Given the description of an element on the screen output the (x, y) to click on. 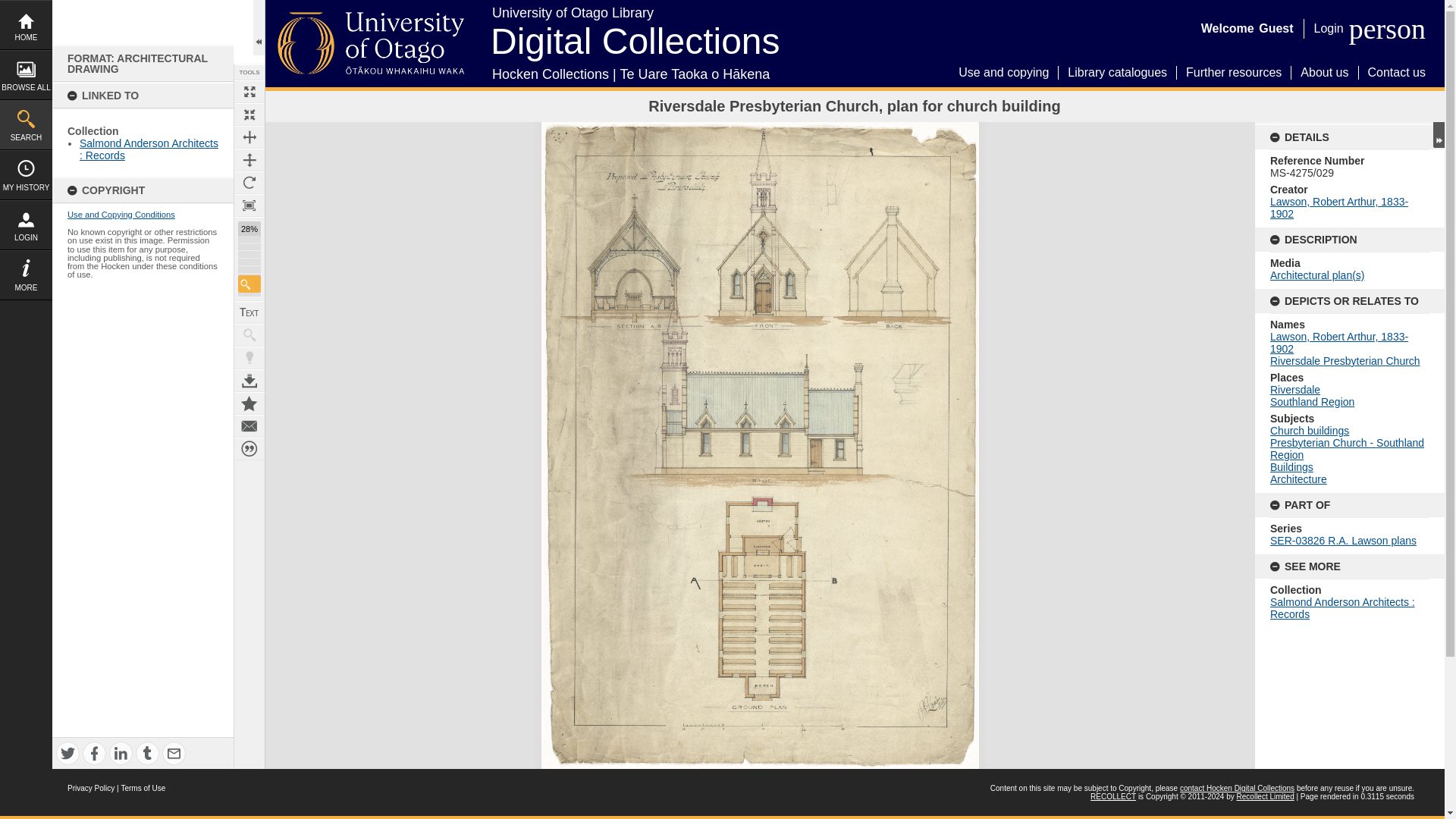
Share this on LinkedIn (120, 753)
Share this on Facebook (94, 753)
MORE (26, 274)
Use and Copying Conditions (120, 214)
Add to My Collection (249, 403)
University of Otago Library (724, 16)
Full size thumbnail (249, 91)
Share this on Tumblr (146, 753)
Fit to width (249, 137)
Fit to screen (249, 114)
Show keyword hits (249, 334)
Digital Collections (635, 25)
Download (249, 380)
Salmond Anderson Architects : Records (149, 149)
Contact us about this (249, 425)
